Given the description of an element on the screen output the (x, y) to click on. 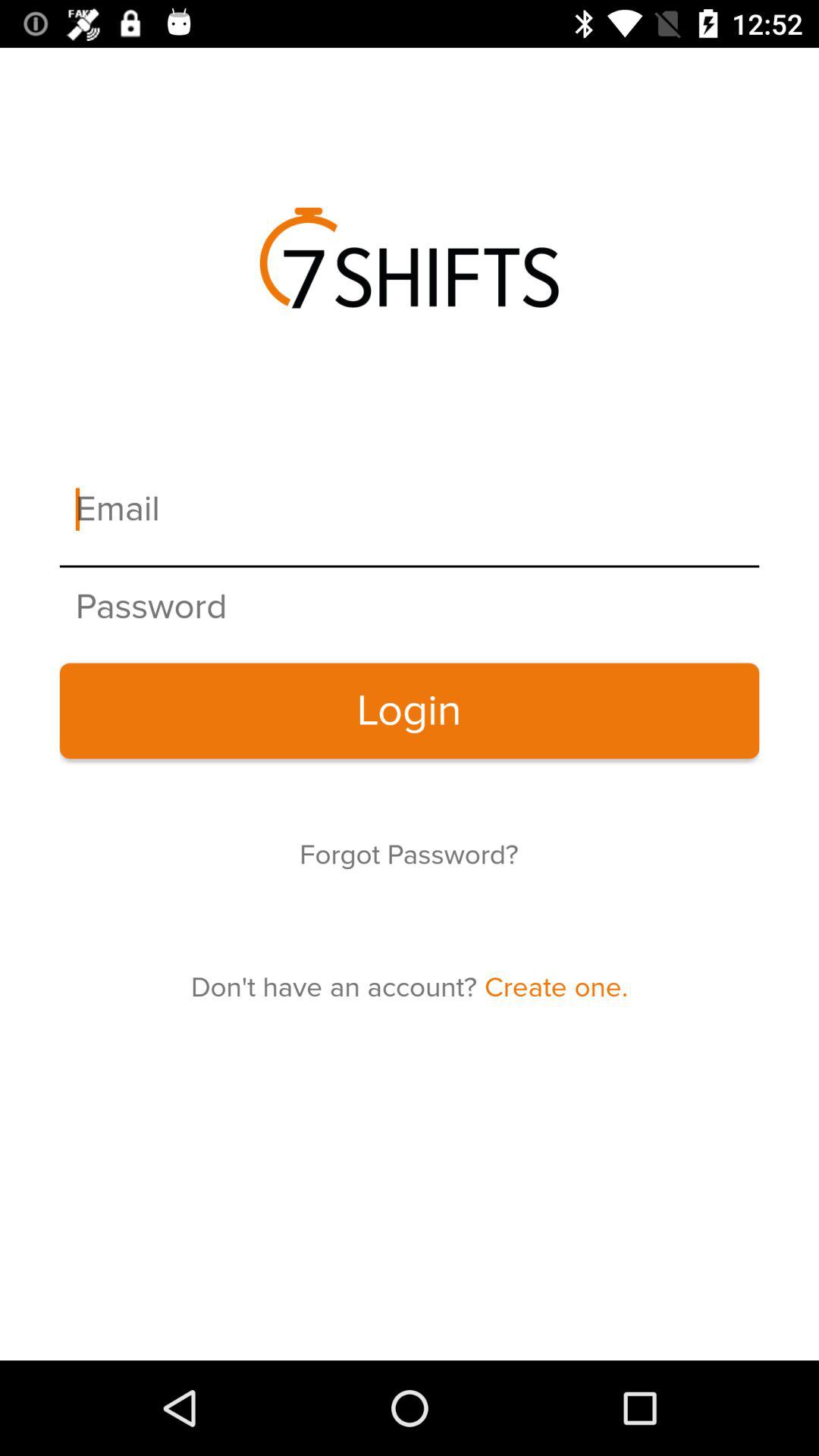
insert email (409, 509)
